Given the description of an element on the screen output the (x, y) to click on. 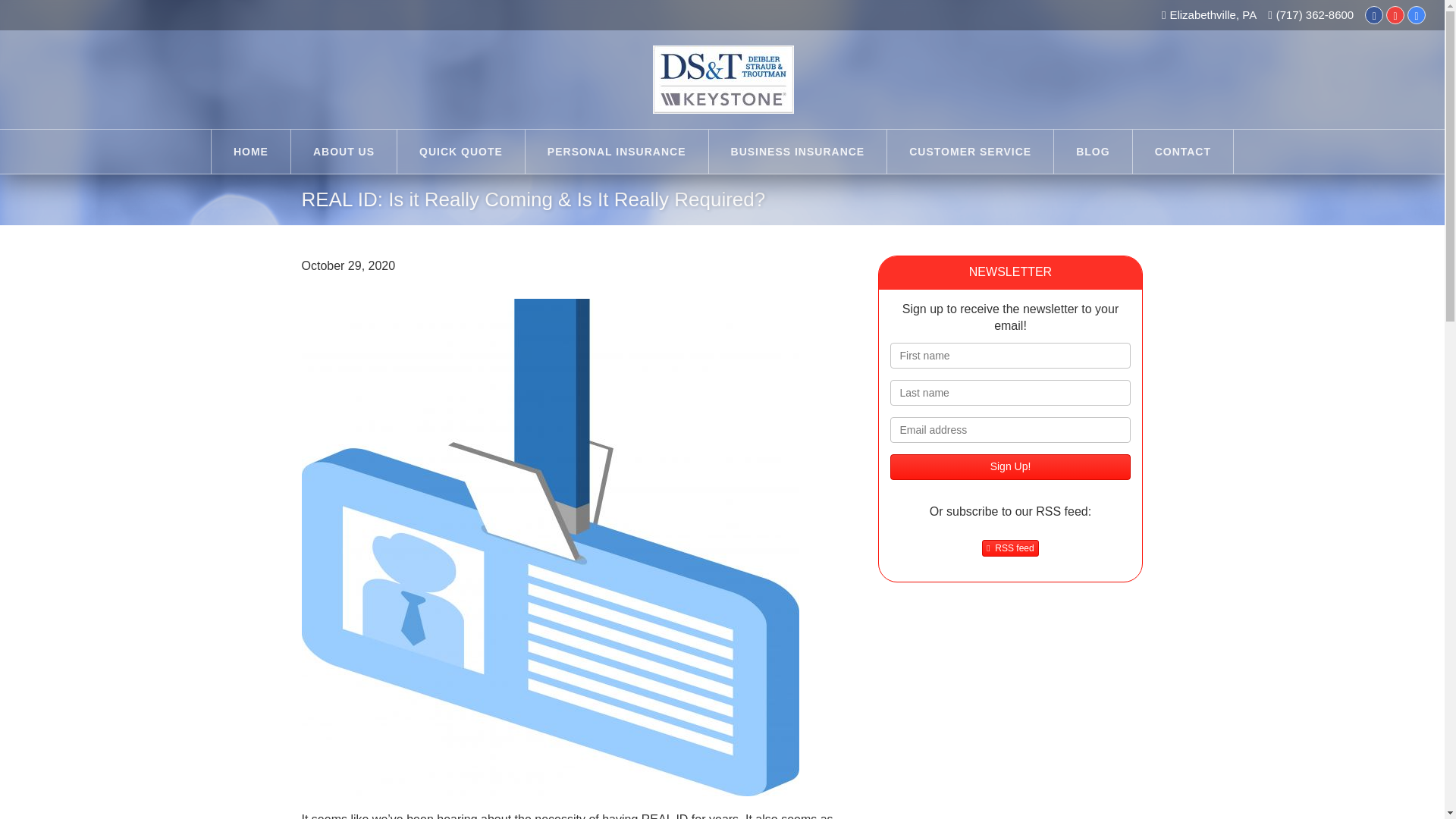
PERSONAL INSURANCE (616, 151)
Sign Up! (1010, 466)
HOME (250, 151)
ABOUT US (343, 151)
BUSINESS INSURANCE (797, 151)
QUICK QUOTE (460, 151)
